Given the description of an element on the screen output the (x, y) to click on. 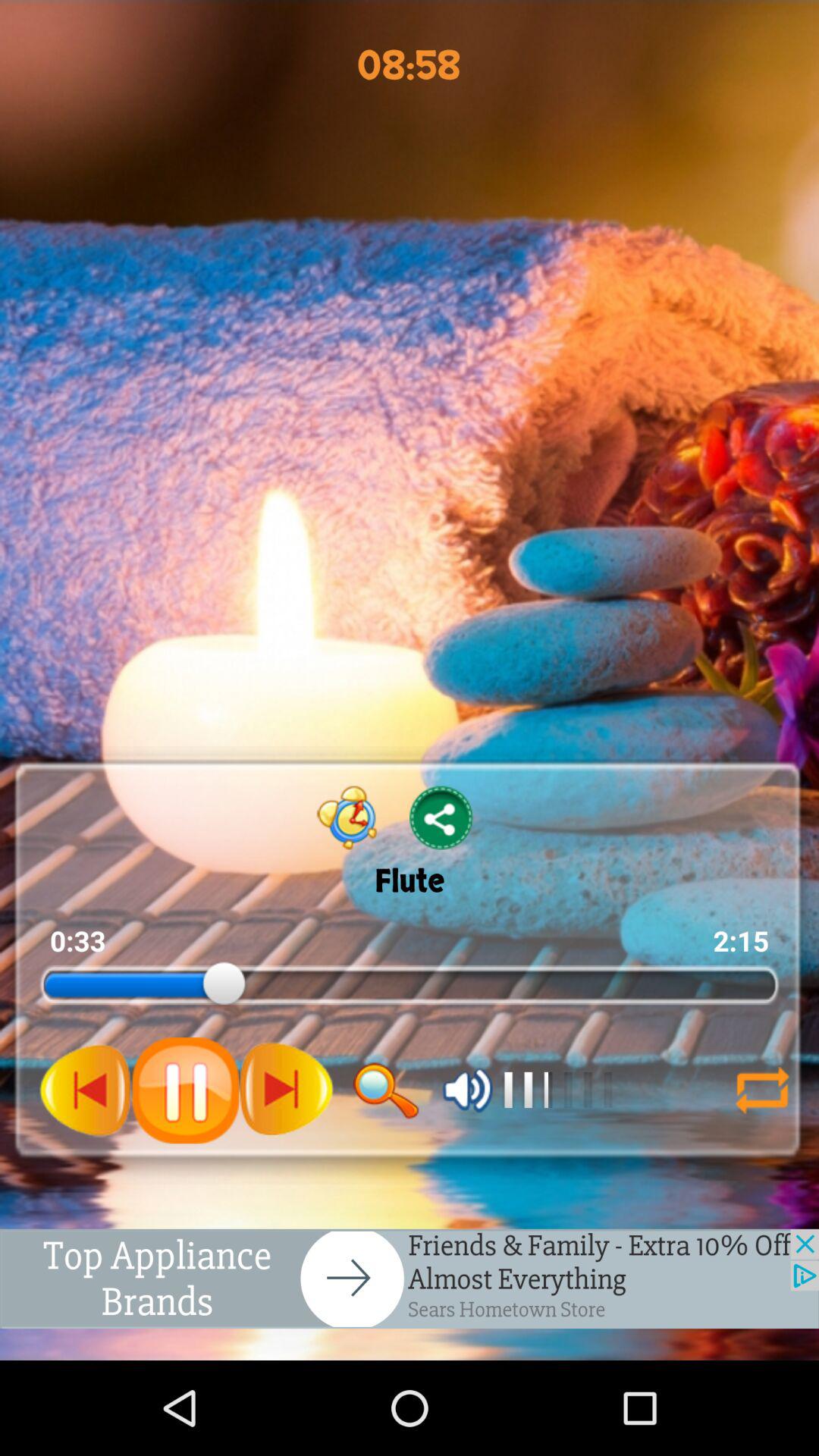
sound volume option (467, 1089)
